Given the description of an element on the screen output the (x, y) to click on. 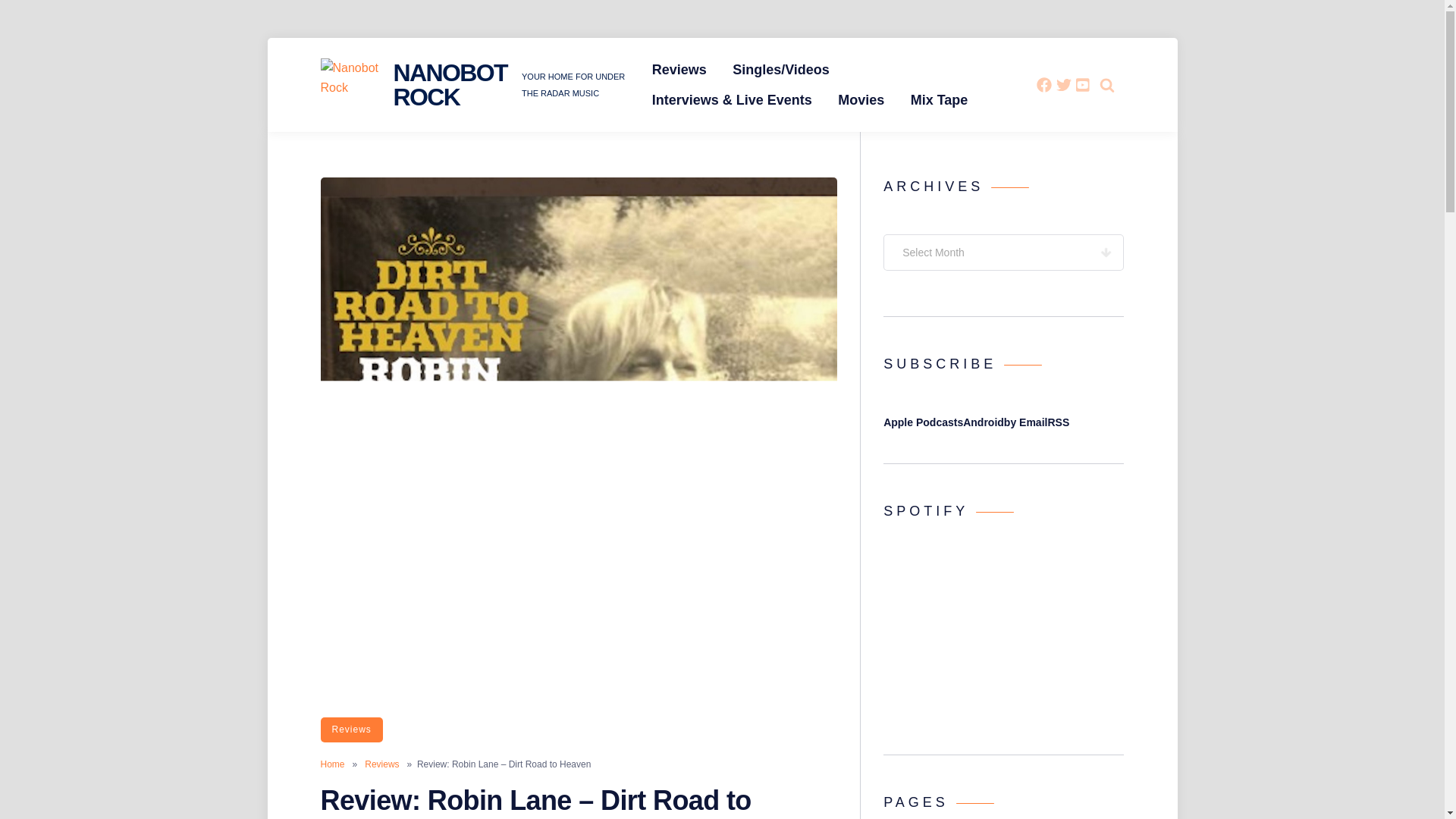
Subscribe on Apple Podcasts (922, 422)
Reviews (381, 764)
Home (331, 764)
Subscribe by Email (1026, 422)
RSS (1057, 422)
Reviews (678, 69)
by Email (1026, 422)
Mix Tape (939, 100)
Search (1074, 127)
Movies (861, 100)
